Given the description of an element on the screen output the (x, y) to click on. 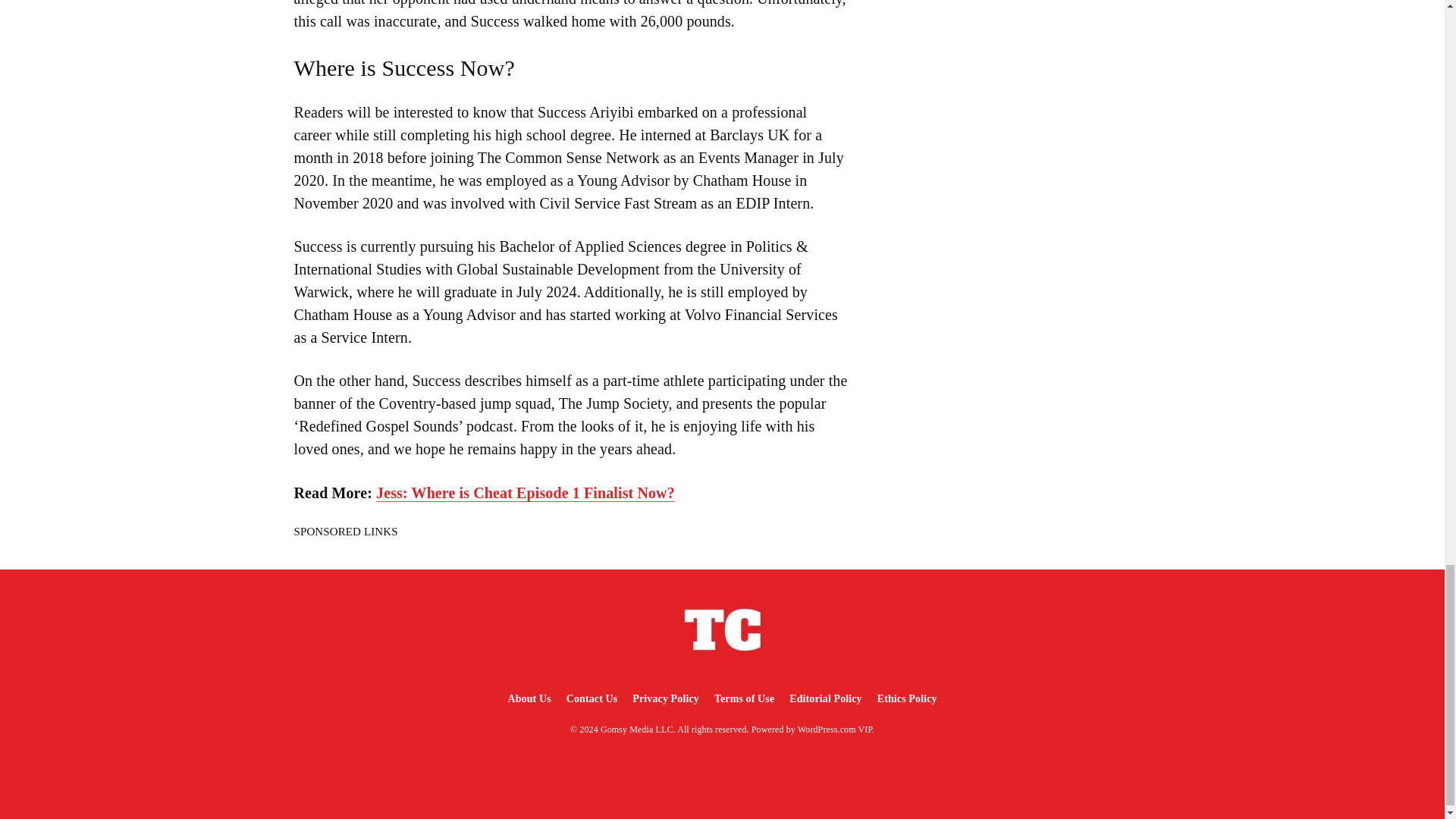
About Us (528, 698)
Ethics Policy (906, 698)
Editorial Policy (825, 698)
Contact Us (592, 698)
Jess: Where is Cheat Episode 1 Finalist Now? (525, 493)
Terms of Use (743, 698)
Privacy Policy (665, 698)
WordPress.com VIP (834, 728)
